Given the description of an element on the screen output the (x, y) to click on. 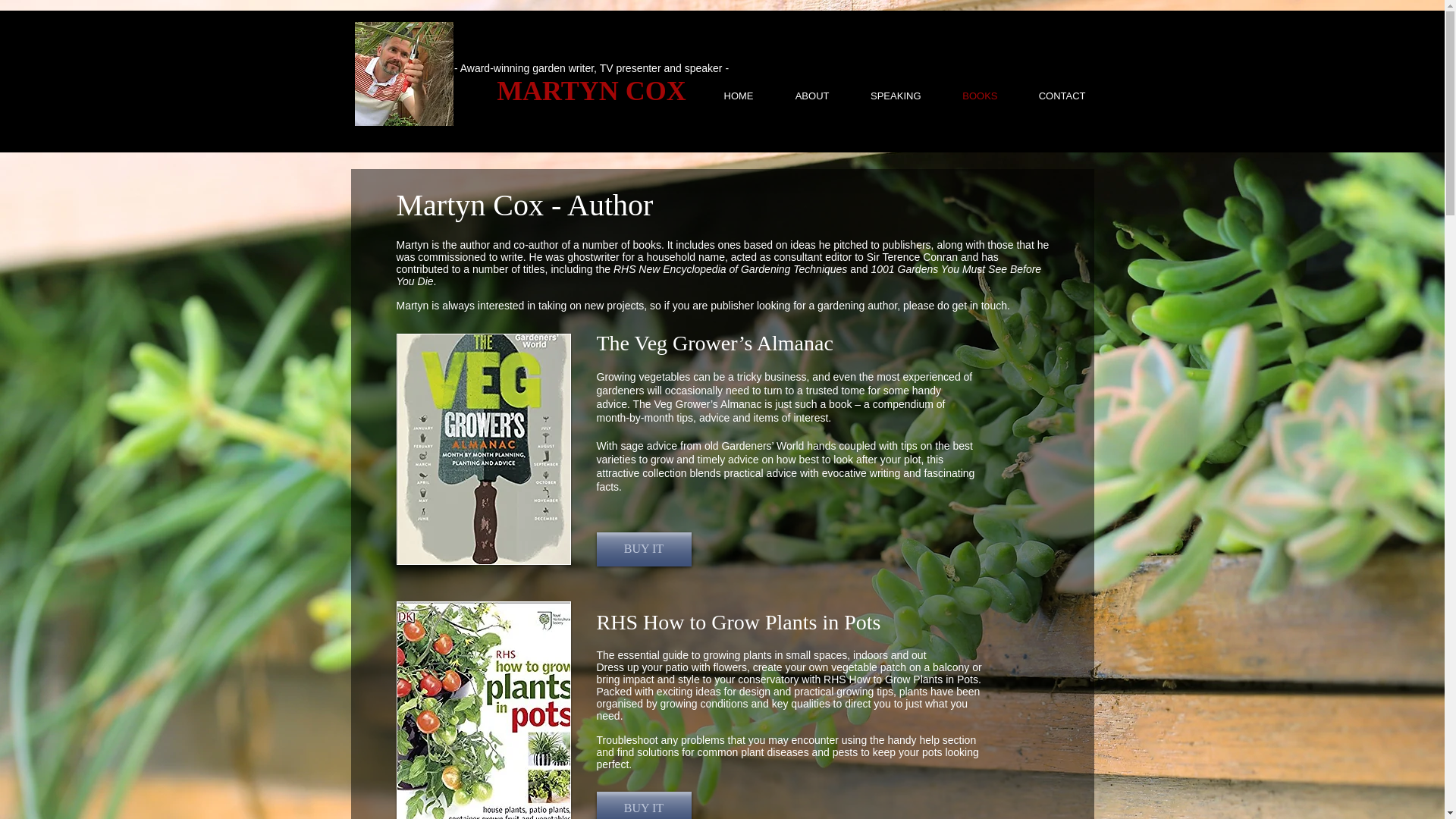
CONTACT (1049, 96)
SPEAKING (882, 96)
HOME (725, 96)
MARTYN COX (590, 91)
BUY IT (642, 549)
ABOUT (799, 96)
BOOKS (968, 96)
BUY IT (642, 805)
